Given the description of an element on the screen output the (x, y) to click on. 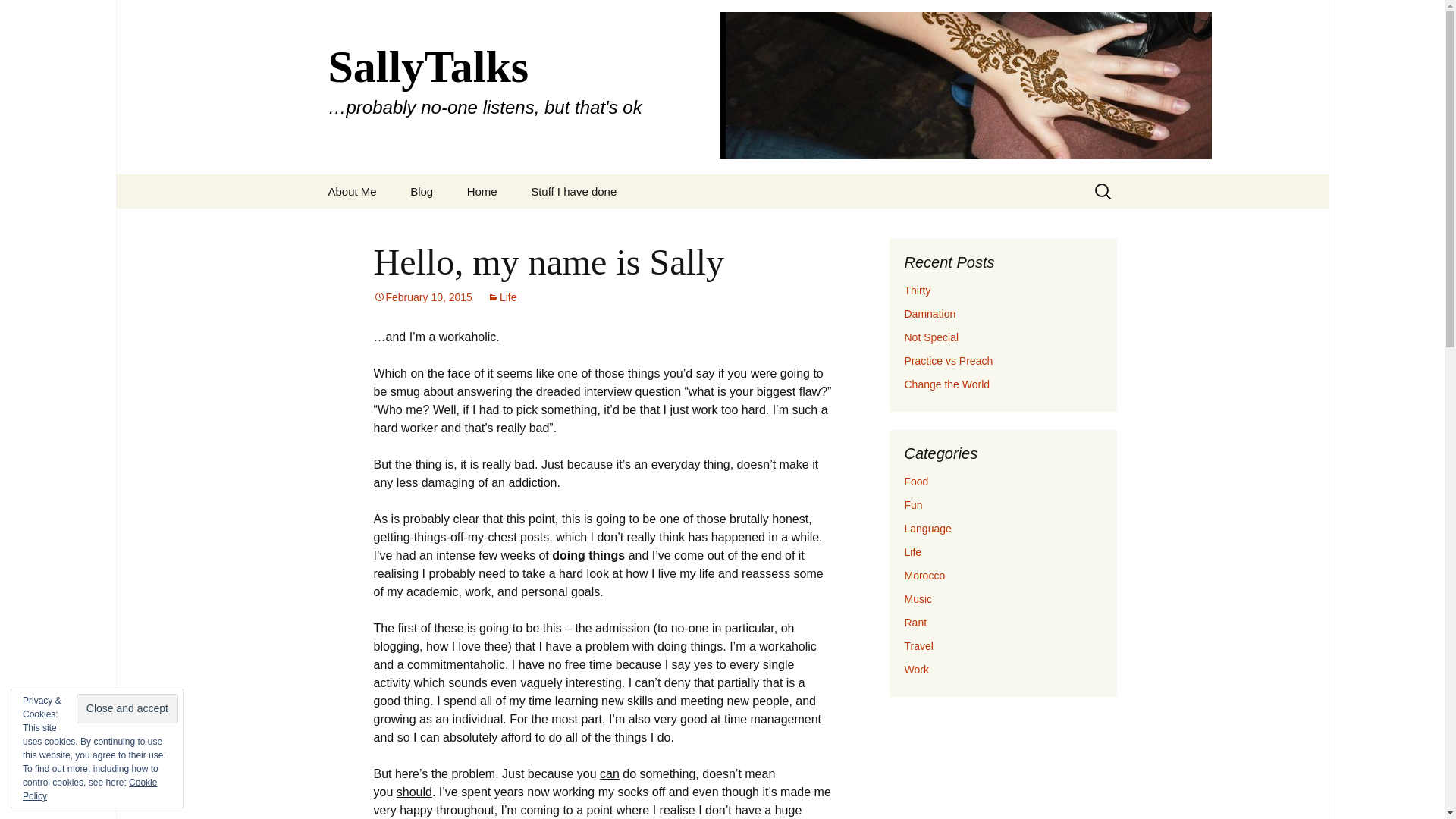
Change the World (947, 384)
Search (18, 15)
Work (916, 669)
Permalink to Hello, my name is Sally (421, 297)
Life (912, 551)
Morocco (924, 575)
Rant (915, 622)
Music (917, 598)
Blog (421, 191)
Practice vs Preach (948, 360)
